Given the description of an element on the screen output the (x, y) to click on. 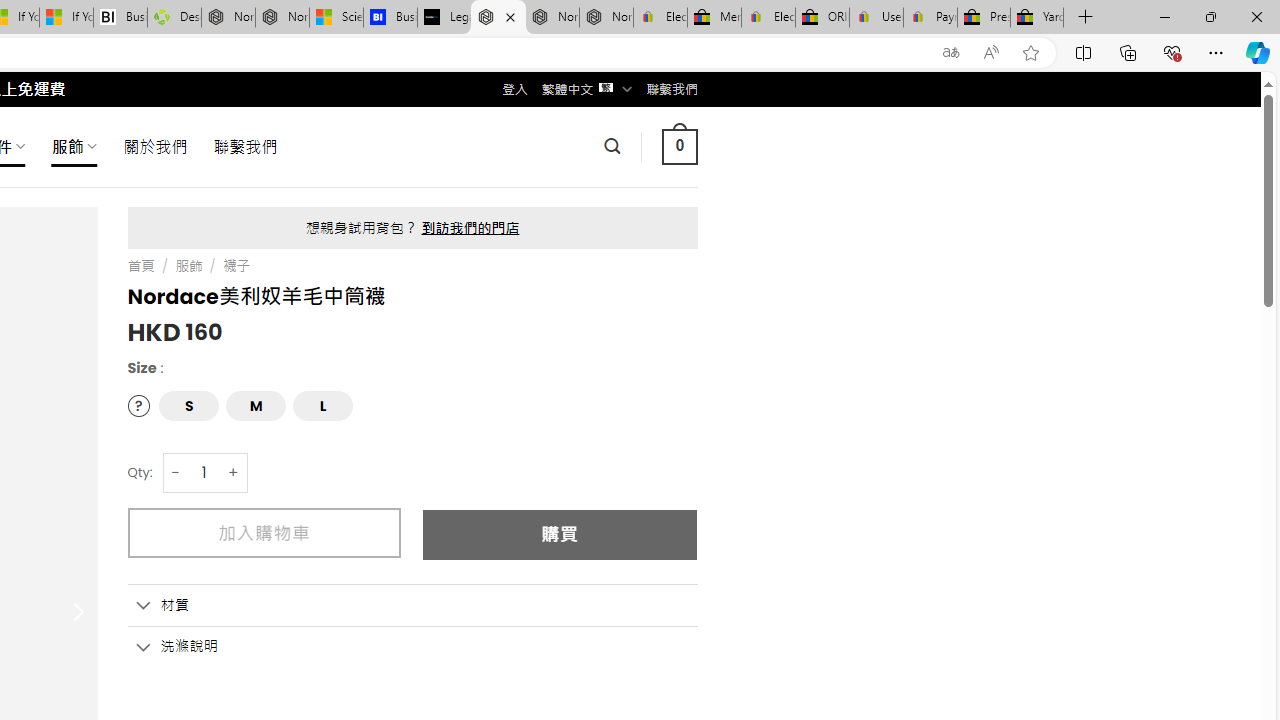
? (137, 404)
- (175, 472)
